Given the description of an element on the screen output the (x, y) to click on. 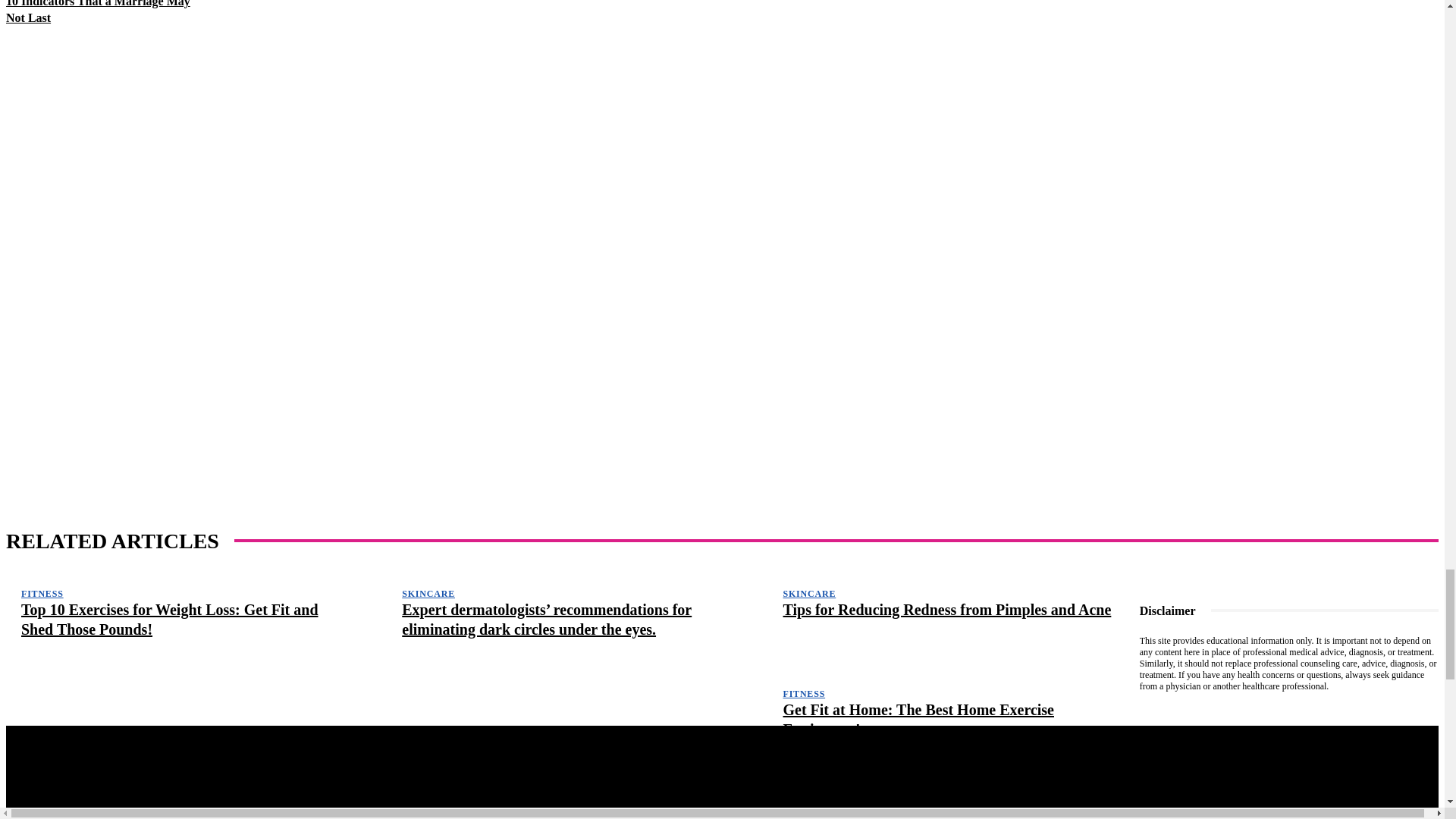
10 Indicators That a Marriage May Not Last (97, 12)
